Given the description of an element on the screen output the (x, y) to click on. 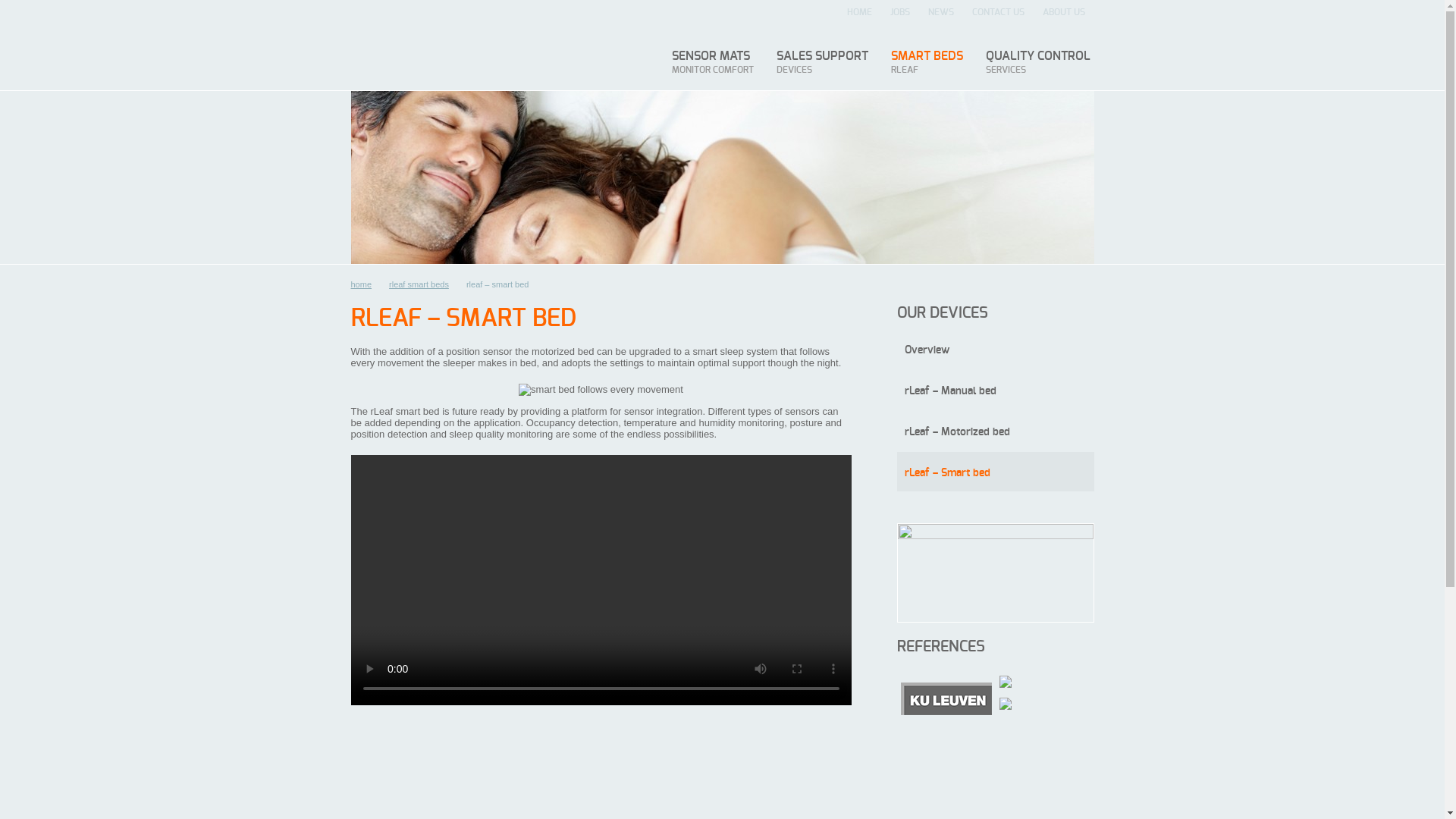
HOME Element type: text (858, 10)
Overview Element type: text (994, 348)
JOBS Element type: text (900, 10)
QUALITY CONTROL
SERVICES Element type: text (1037, 61)
SMART BEDS
RLEAF Element type: text (926, 61)
CONTACT US Element type: text (998, 10)
home Element type: text (365, 283)
SENSOR MATS
MONITOR COMFORT Element type: text (711, 61)
NEWS Element type: text (941, 10)
SALES SUPPORT
DEVICES Element type: text (821, 61)
rleaf smart beds Element type: text (423, 283)
ABOUT US Element type: text (1062, 10)
